Given the description of an element on the screen output the (x, y) to click on. 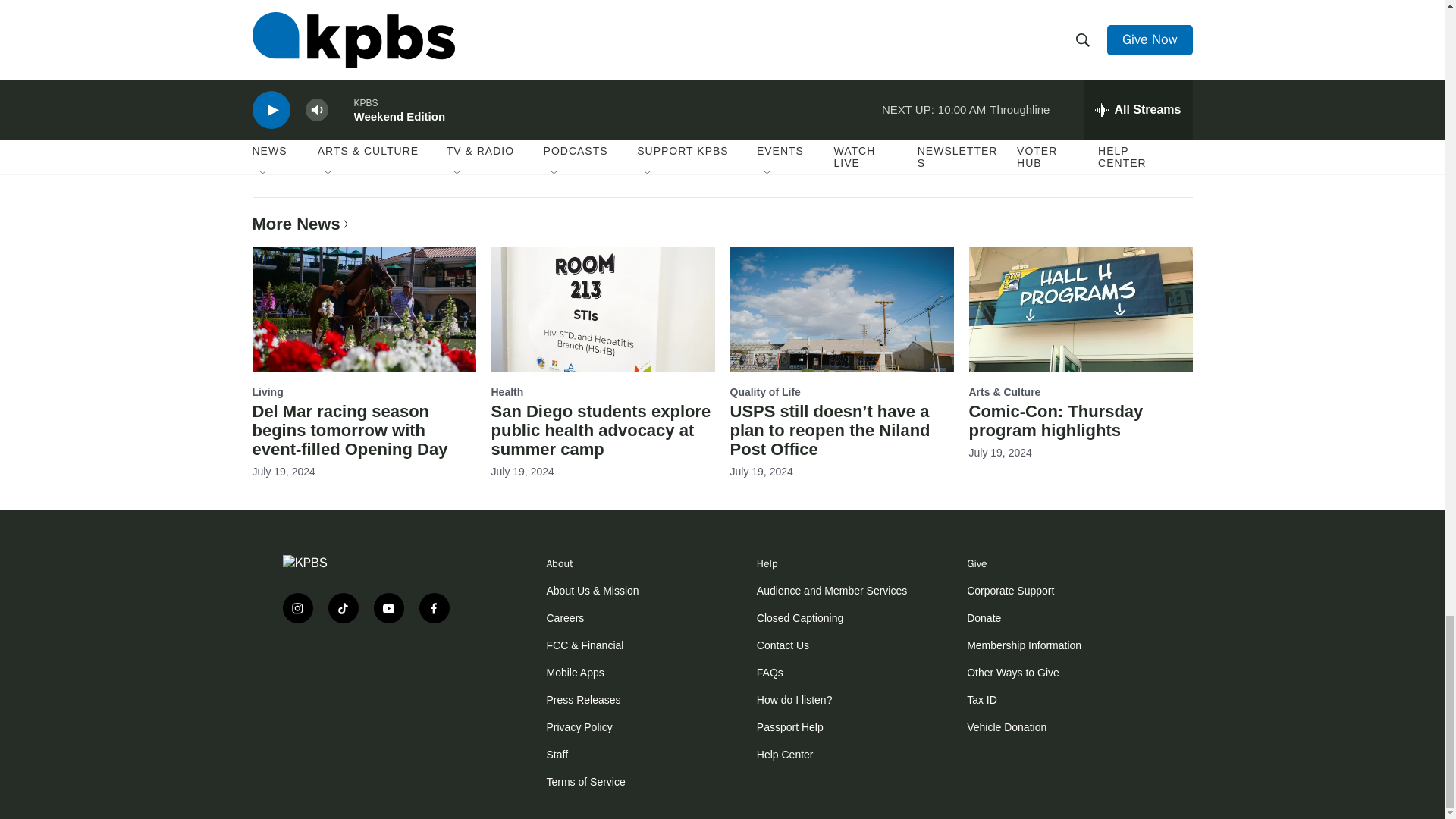
3rd party ad content (373, 683)
